Given the description of an element on the screen output the (x, y) to click on. 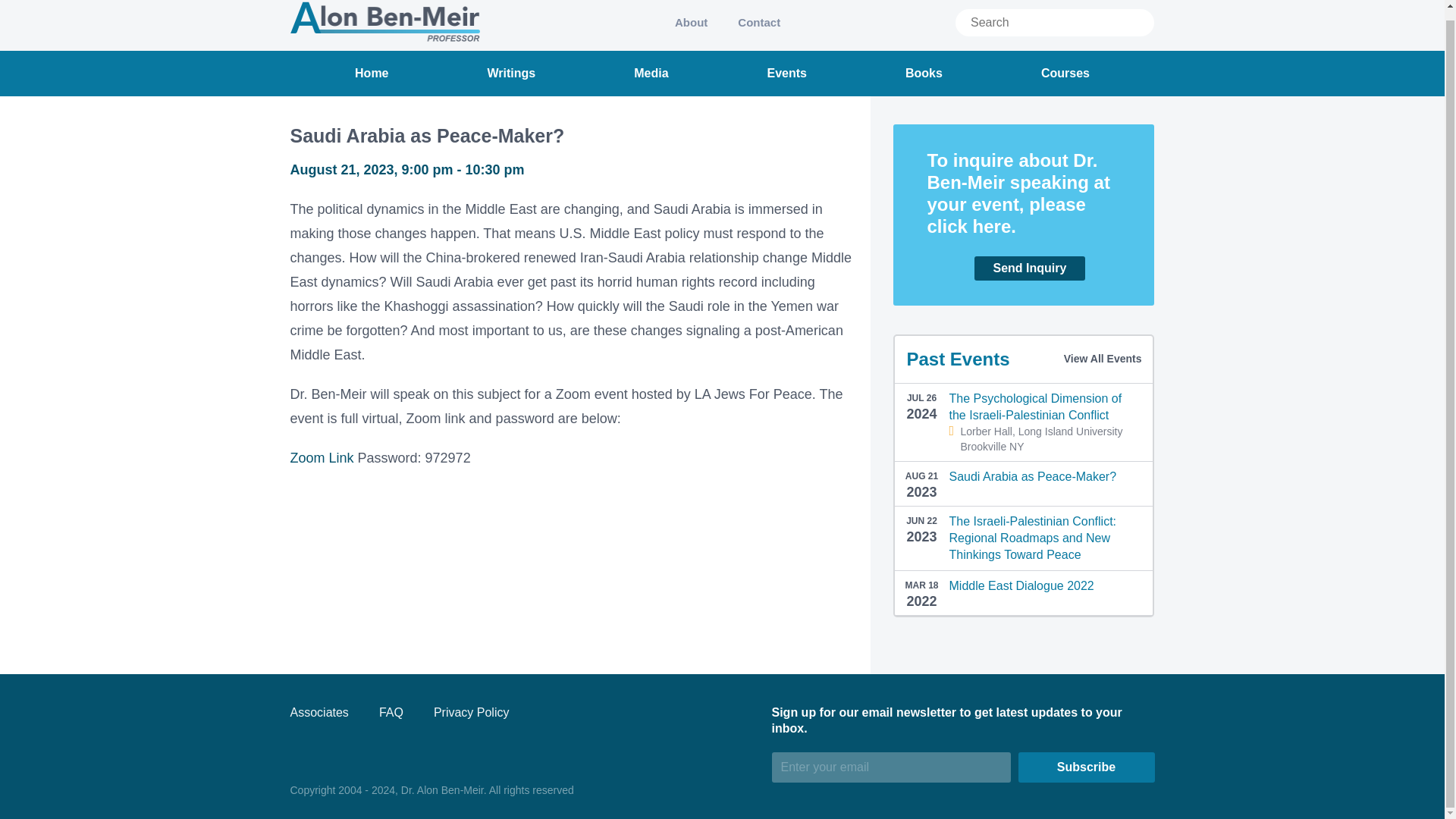
Media (651, 73)
Privacy Policy (471, 712)
View All Events (1102, 358)
Associates (318, 712)
Subscribe (1085, 767)
Books (923, 73)
Middle East Dialogue 2022 (1021, 585)
Subscribe (1085, 767)
Writings (511, 73)
Home (371, 73)
Zoom Link (321, 458)
FAQ (390, 712)
Contact (758, 22)
Send Inquiry (1022, 268)
